Given the description of an element on the screen output the (x, y) to click on. 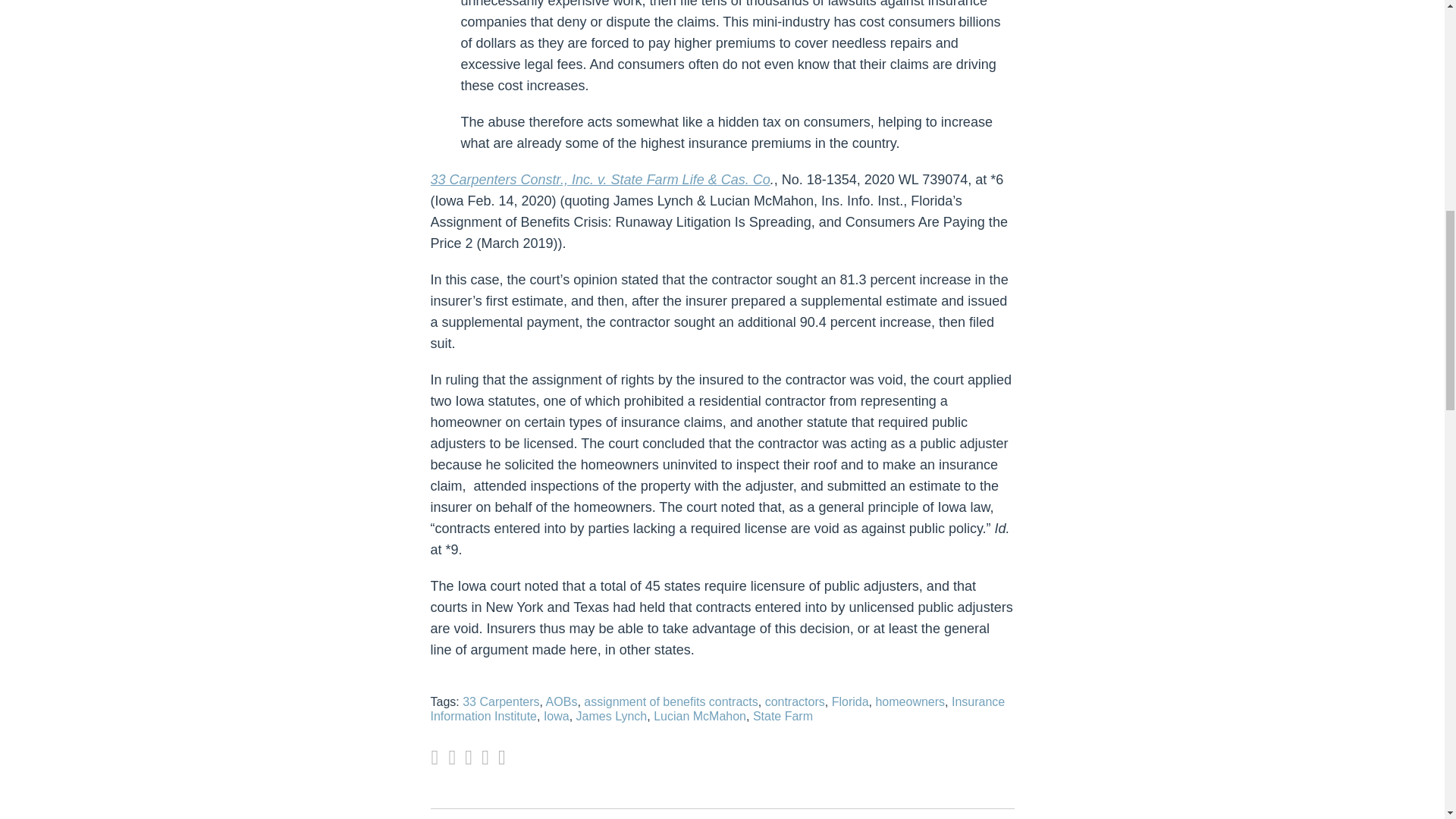
James Lynch (611, 716)
assignment of benefits contracts (670, 701)
Like this post (485, 757)
Lucian McMahon (699, 716)
Florida (850, 701)
Email this post (451, 757)
Insurance Information Institute (718, 708)
State Farm (782, 716)
AOBs (562, 701)
Print: (434, 757)
Iowa (556, 716)
contractors (795, 701)
33 Carpenters (500, 701)
Tweet this post (467, 757)
homeowners (909, 701)
